Given the description of an element on the screen output the (x, y) to click on. 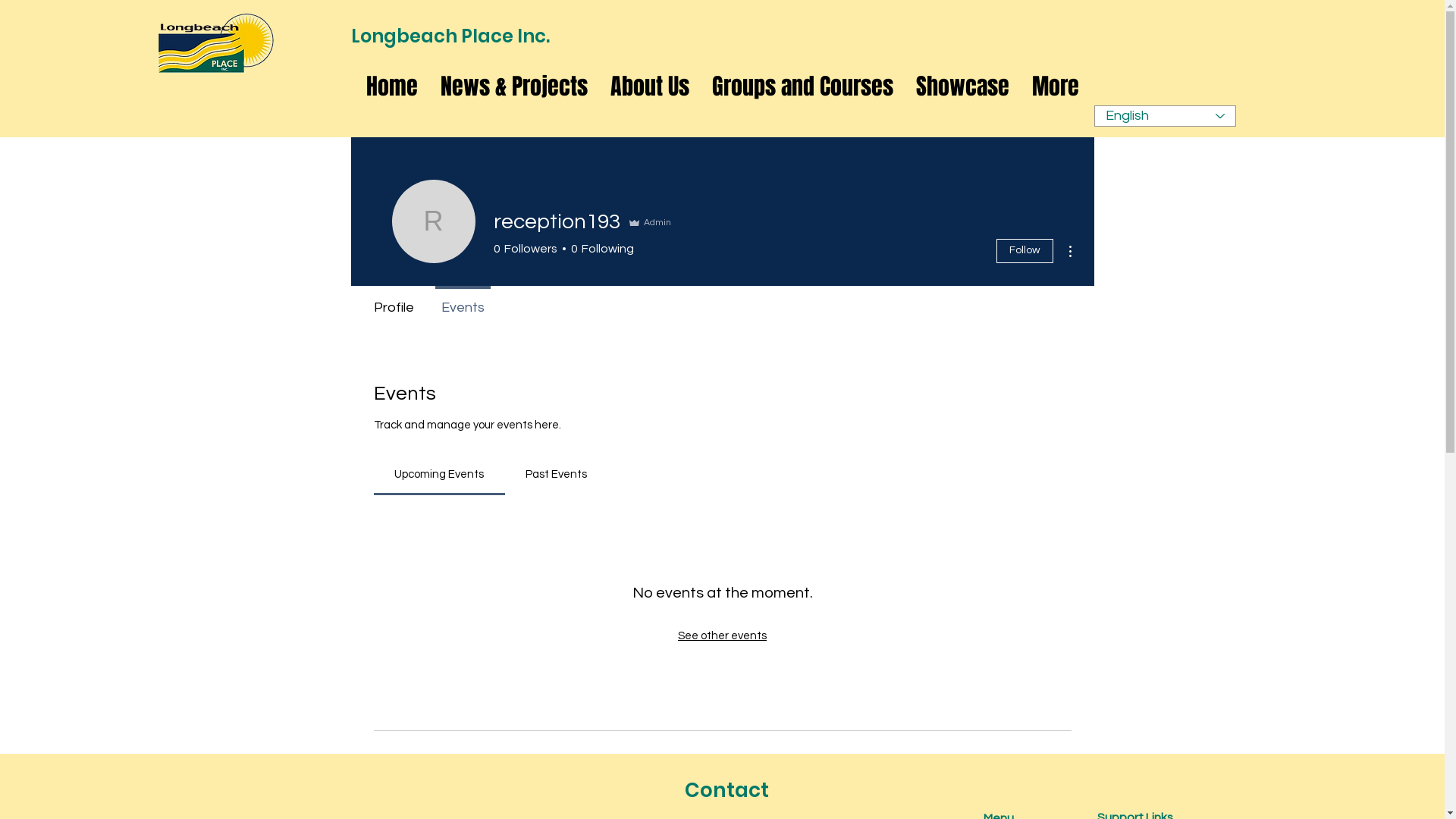
Profile Element type: text (392, 300)
About Us Element type: text (649, 86)
Showcase Element type: text (962, 86)
Follow Element type: text (1024, 250)
0
Followers Element type: text (524, 248)
Home Element type: text (391, 86)
Longbeach Place Inc. Element type: text (449, 35)
News & Projects Element type: text (514, 86)
Groups and Courses Element type: text (802, 86)
Events Element type: text (462, 300)
0
Following Element type: text (599, 248)
See other events Element type: text (721, 635)
